Given the description of an element on the screen output the (x, y) to click on. 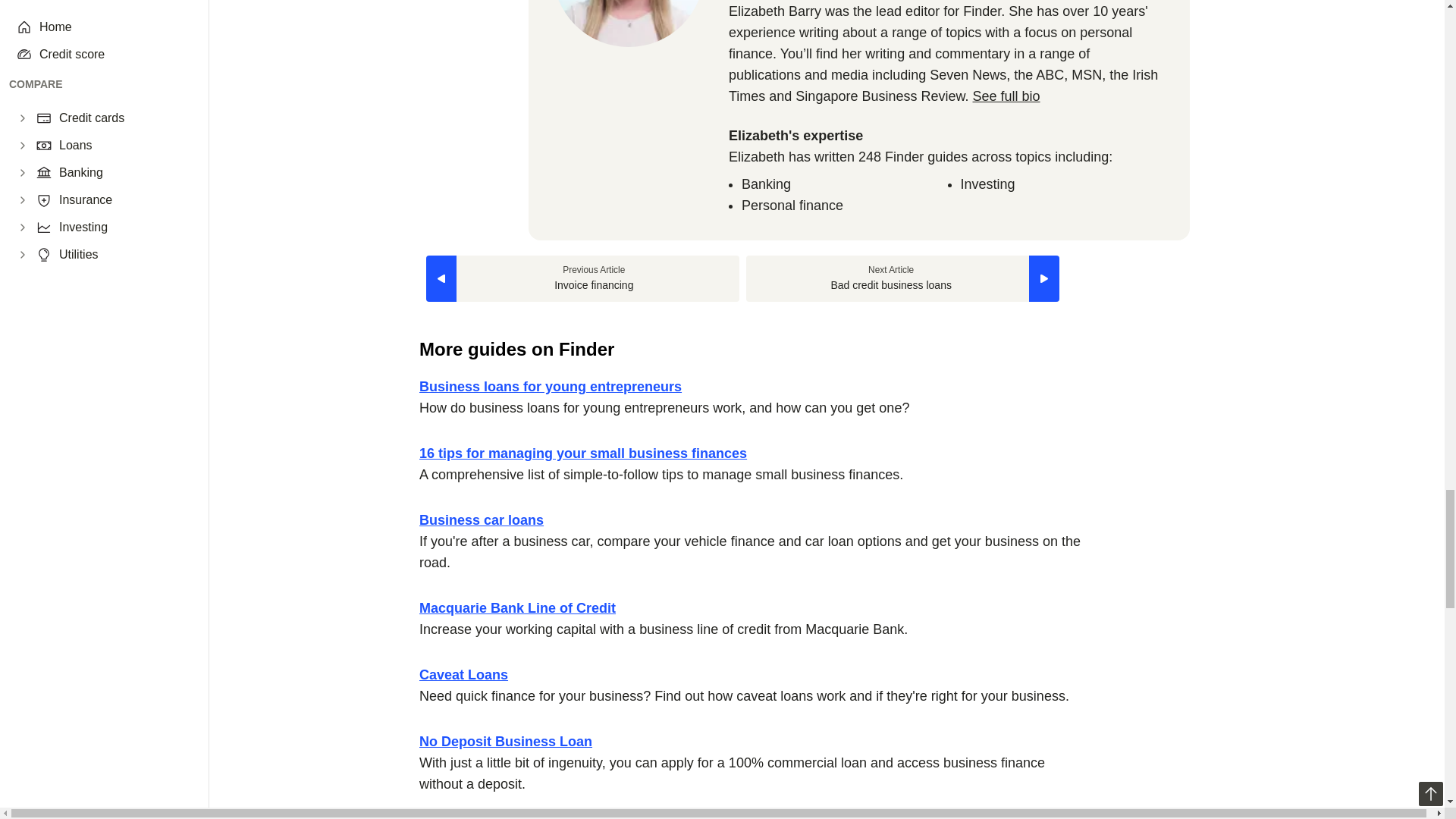
Bad credit business loans (902, 278)
Invoice financing (582, 278)
